Given the description of an element on the screen output the (x, y) to click on. 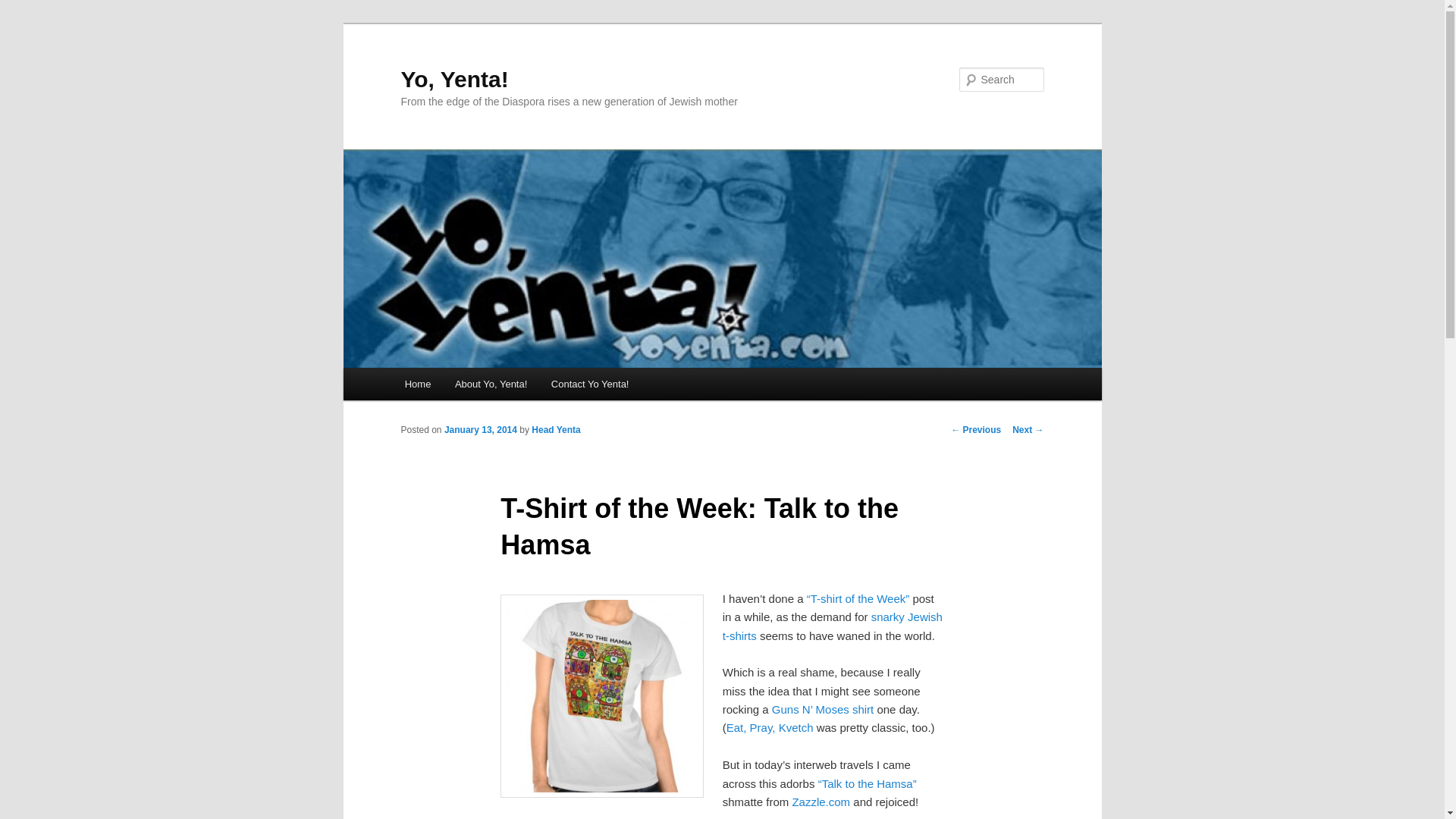
View all posts by Head Yenta (555, 429)
About Yo, Yenta! (490, 383)
Zazzle.com (819, 801)
3:25 pm (480, 429)
snarky Jewish t-shirts (832, 625)
Eat, Pray, Kvetch (769, 727)
Yo, Yenta! (454, 78)
Head Yenta (555, 429)
Search (24, 8)
Home (417, 383)
